Given the description of an element on the screen output the (x, y) to click on. 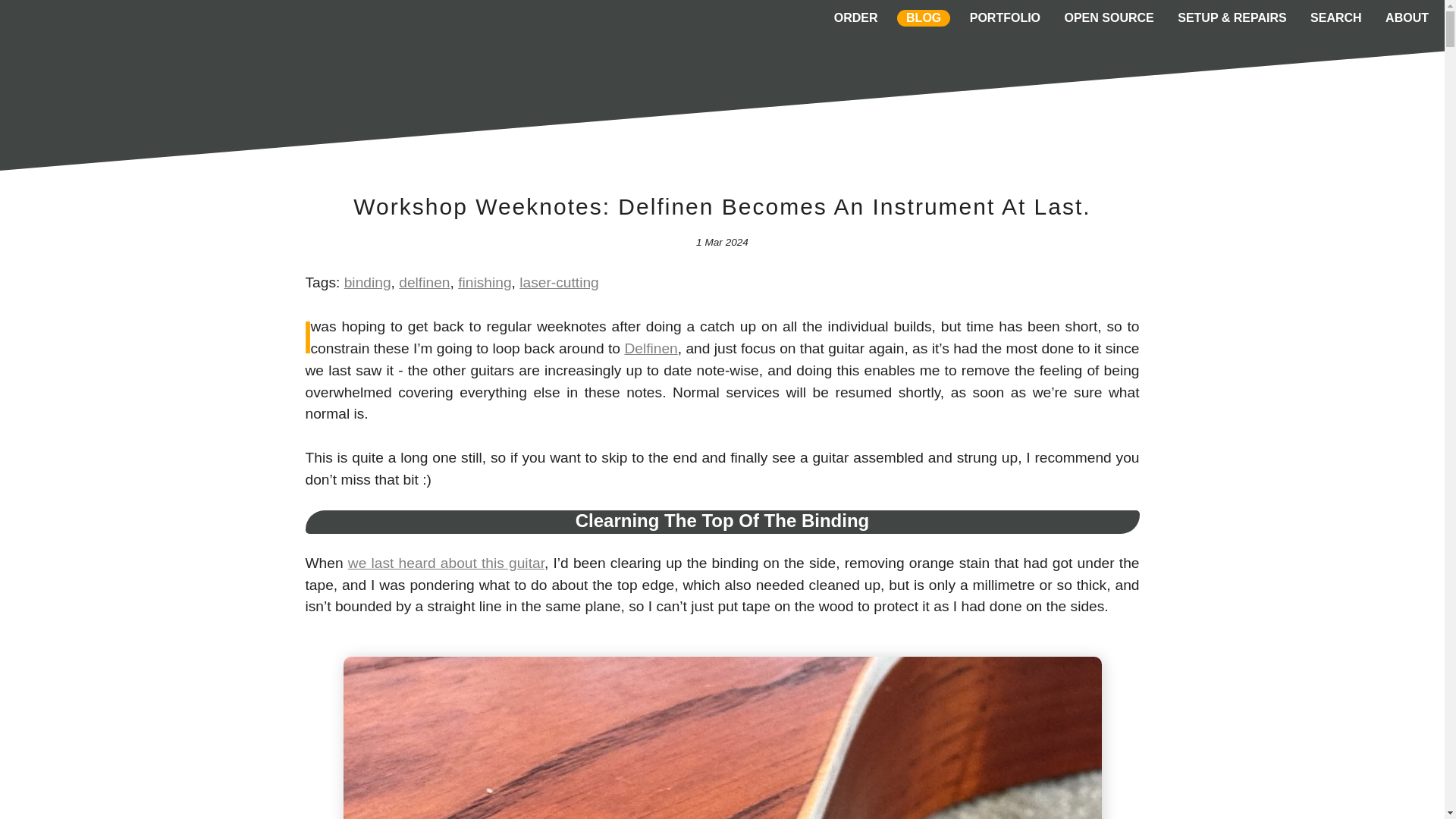
delfinen (423, 282)
BLOG (922, 17)
we last heard about this guitar (445, 562)
PORTFOLIO (1005, 17)
finishing (484, 282)
ABOUT (1406, 17)
SEARCH (1336, 17)
OPEN SOURCE (1108, 17)
laser-cutting (558, 282)
binding (367, 282)
